Given the description of an element on the screen output the (x, y) to click on. 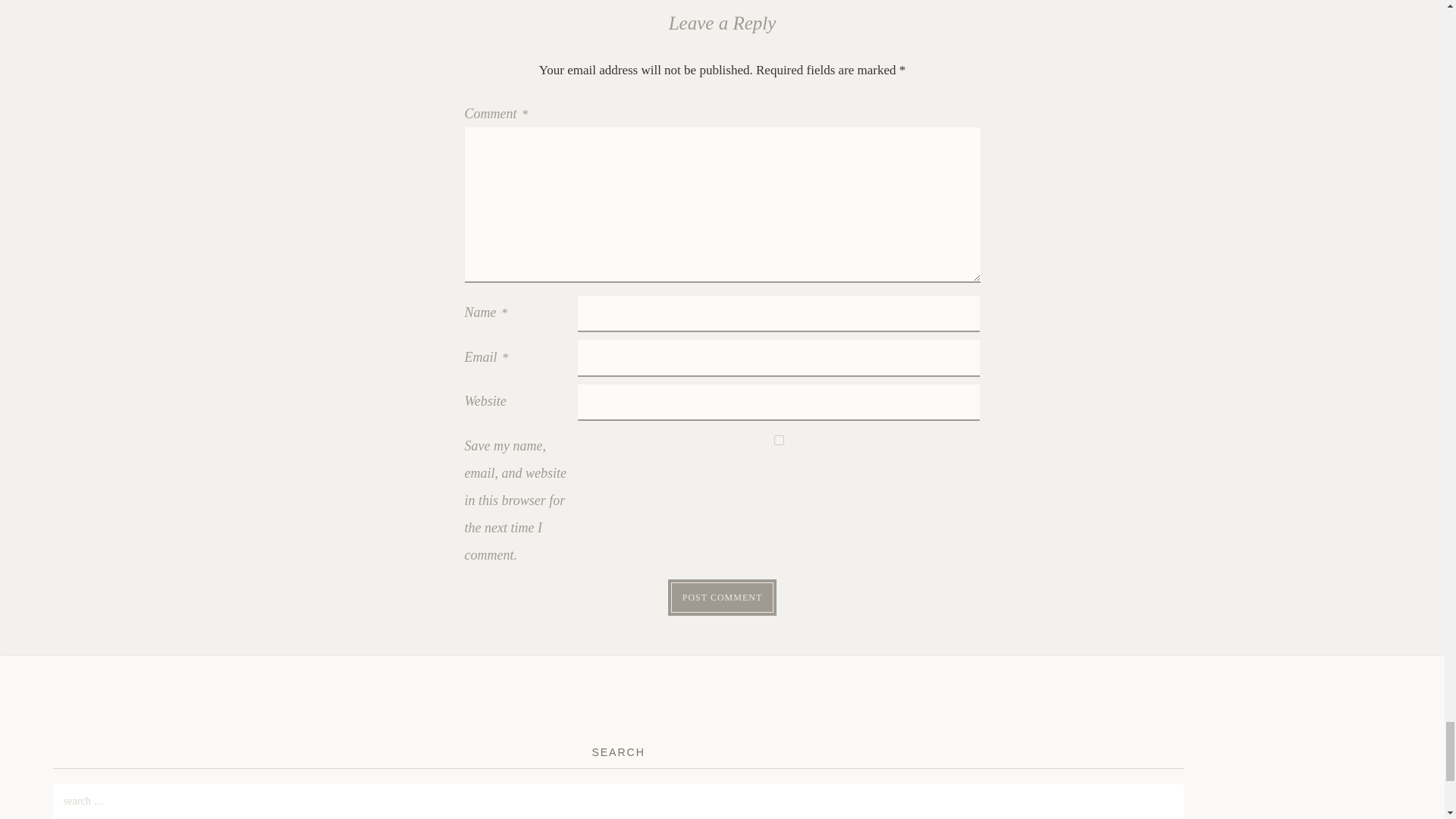
yes (779, 439)
Post Comment (722, 597)
